Given the description of an element on the screen output the (x, y) to click on. 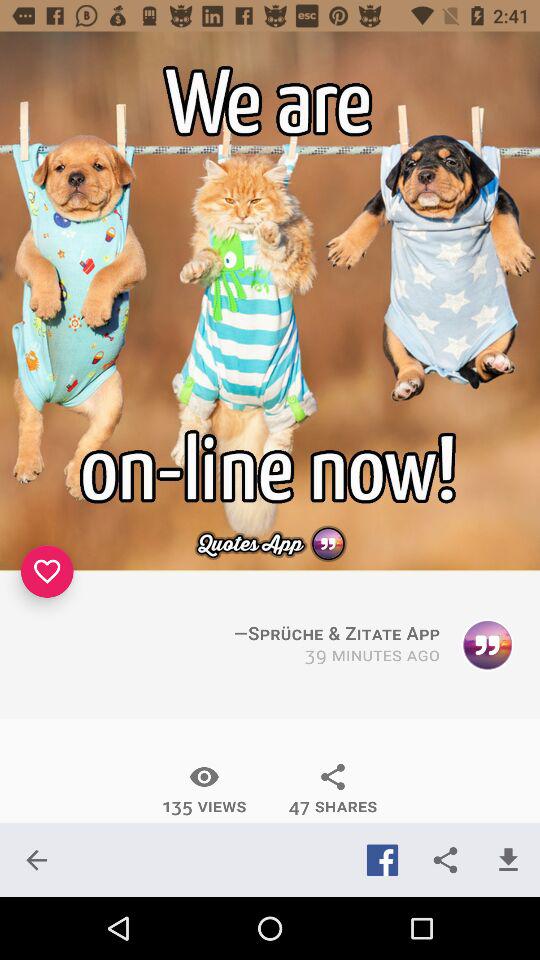
flip to 47 shares (332, 789)
